Given the description of an element on the screen output the (x, y) to click on. 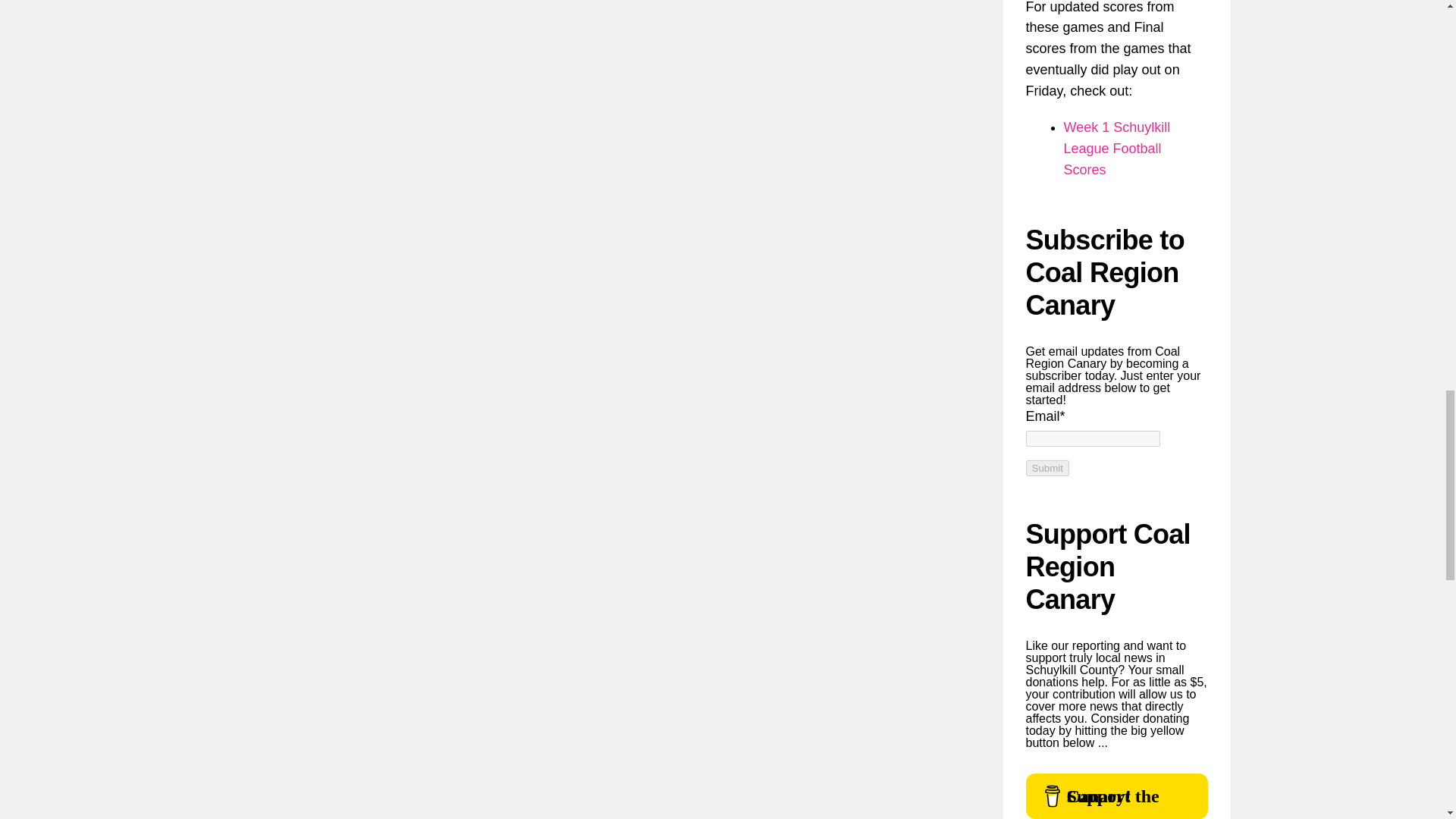
Submit (1046, 467)
